Given the description of an element on the screen output the (x, y) to click on. 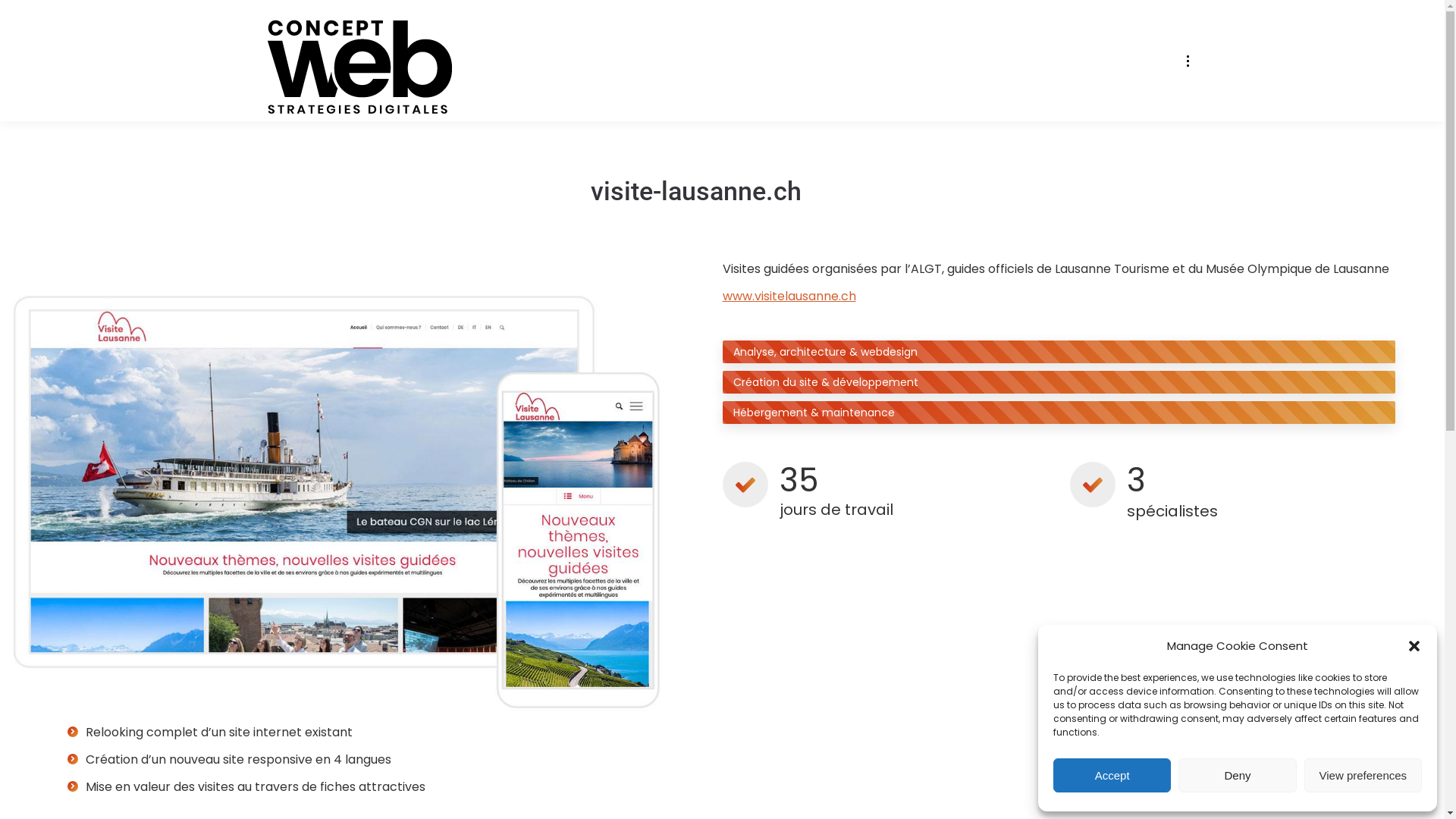
Deny Element type: text (1236, 775)
nous suivre sur instagram Element type: hover (283, 741)
Politique de cookies Element type: text (853, 796)
Accept Element type: text (1111, 775)
View preferences Element type: text (1362, 775)
www.visitelausanne.ch Element type: text (788, 295)
Imprint Element type: text (1080, 796)
visite-lausanne Element type: hover (336, 501)
nous suivre sur facebook Element type: hover (240, 741)
Avertissement Element type: text (1143, 796)
